Given the description of an element on the screen output the (x, y) to click on. 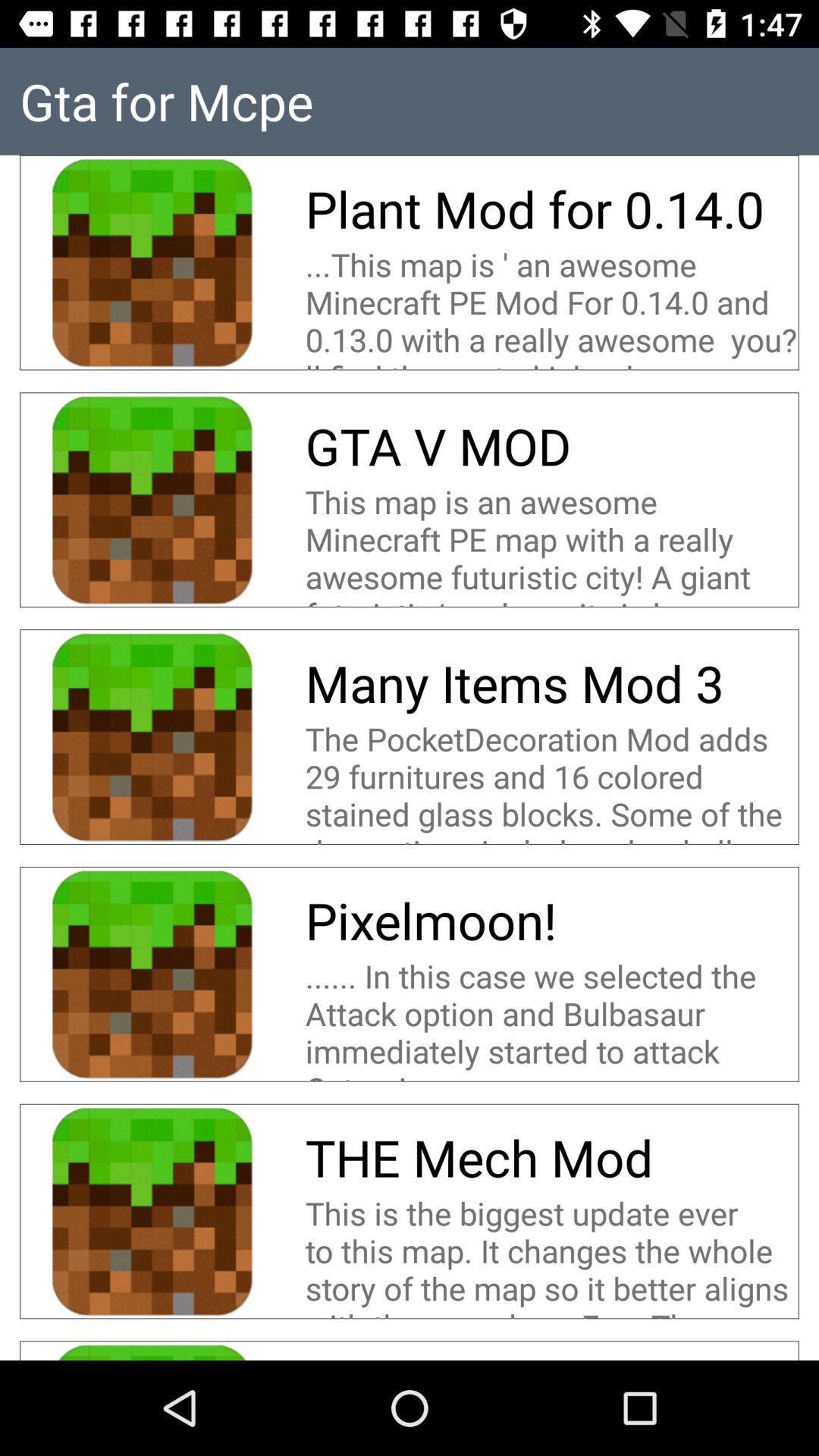
scroll until the pixelmoon! icon (430, 920)
